Given the description of an element on the screen output the (x, y) to click on. 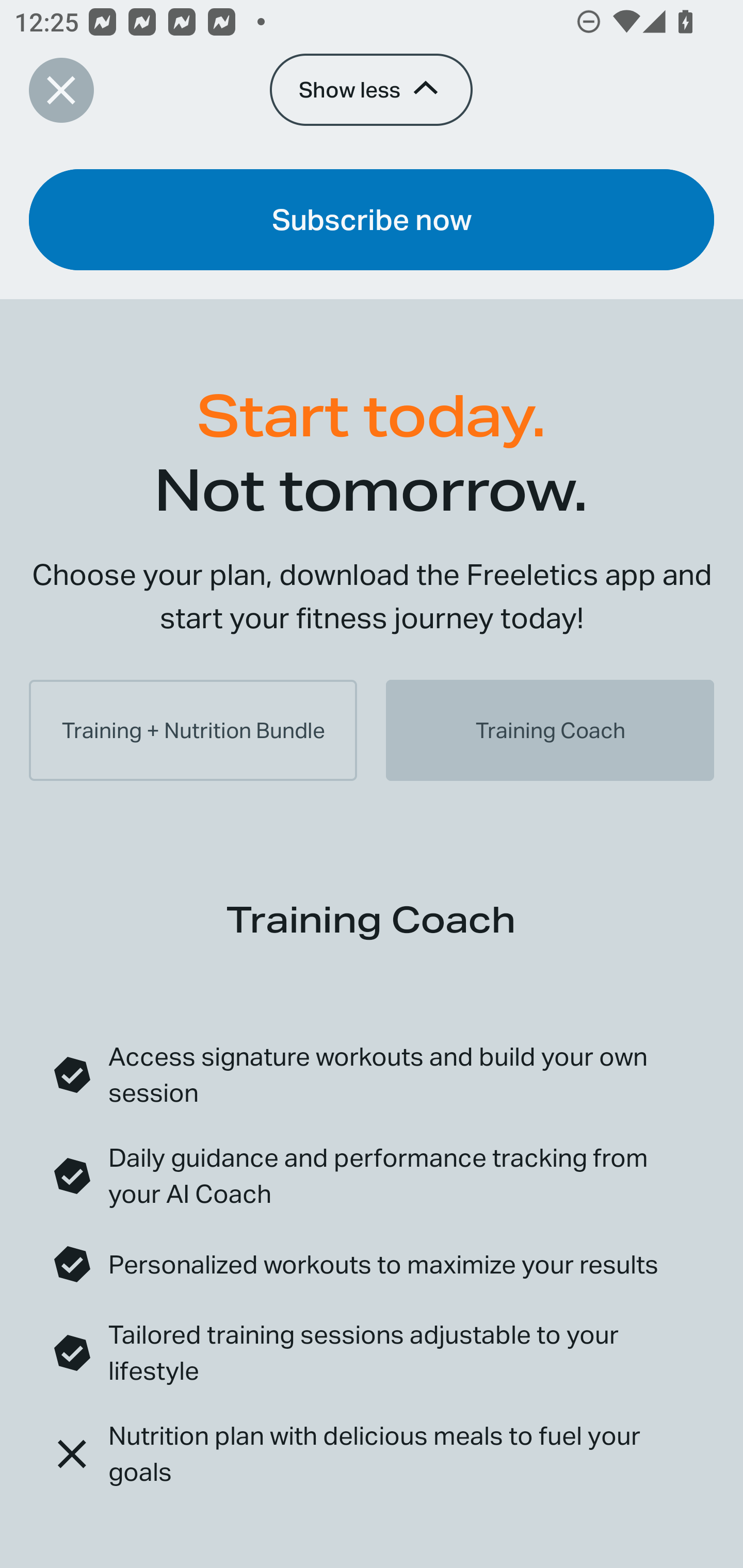
Close (60, 90)
Show less (370, 89)
Subscribe now (371, 219)
Training + Nutrition Bundle (192, 730)
Training Coach (549, 730)
